Given the description of an element on the screen output the (x, y) to click on. 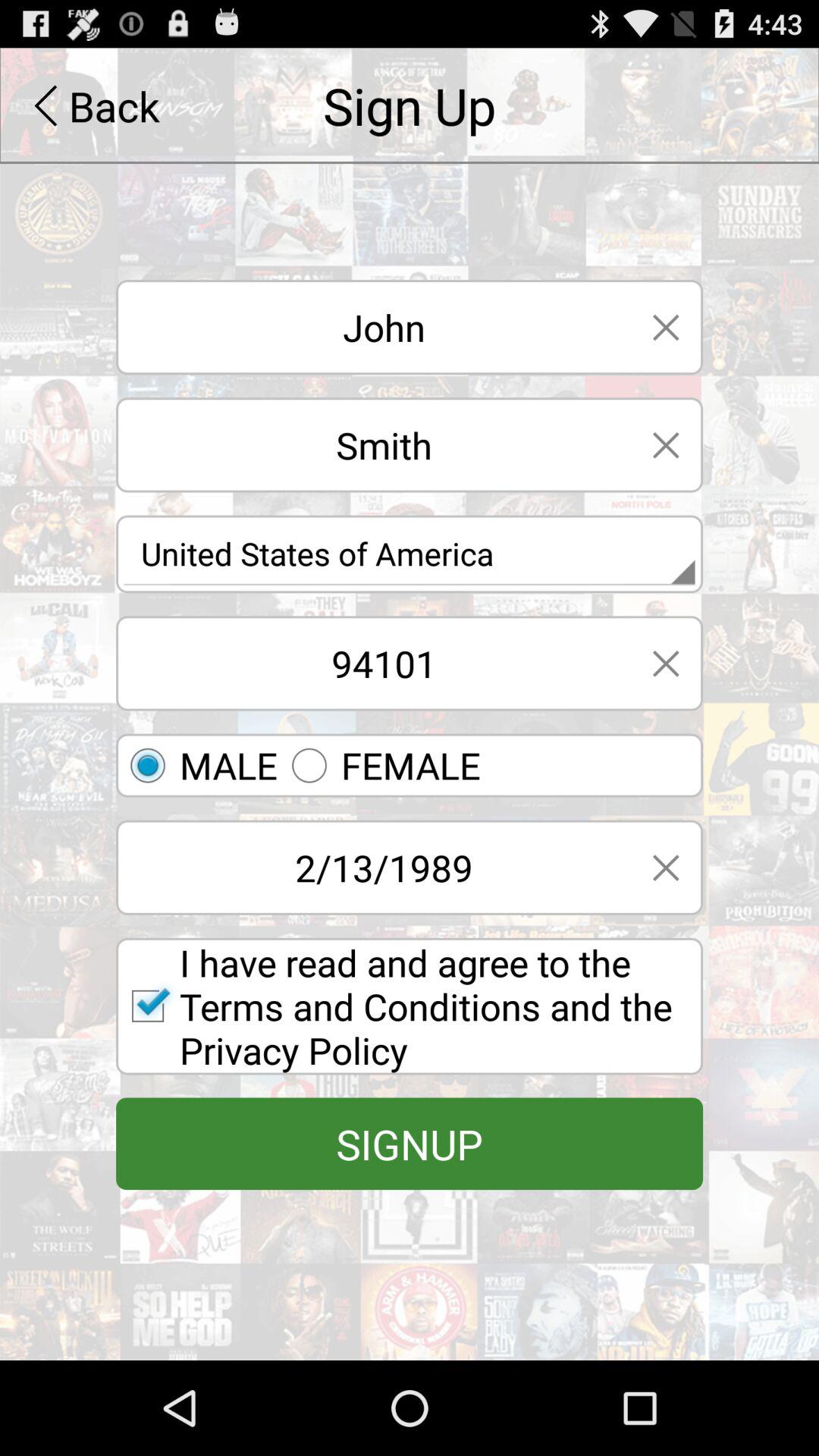
close (665, 444)
